Given the description of an element on the screen output the (x, y) to click on. 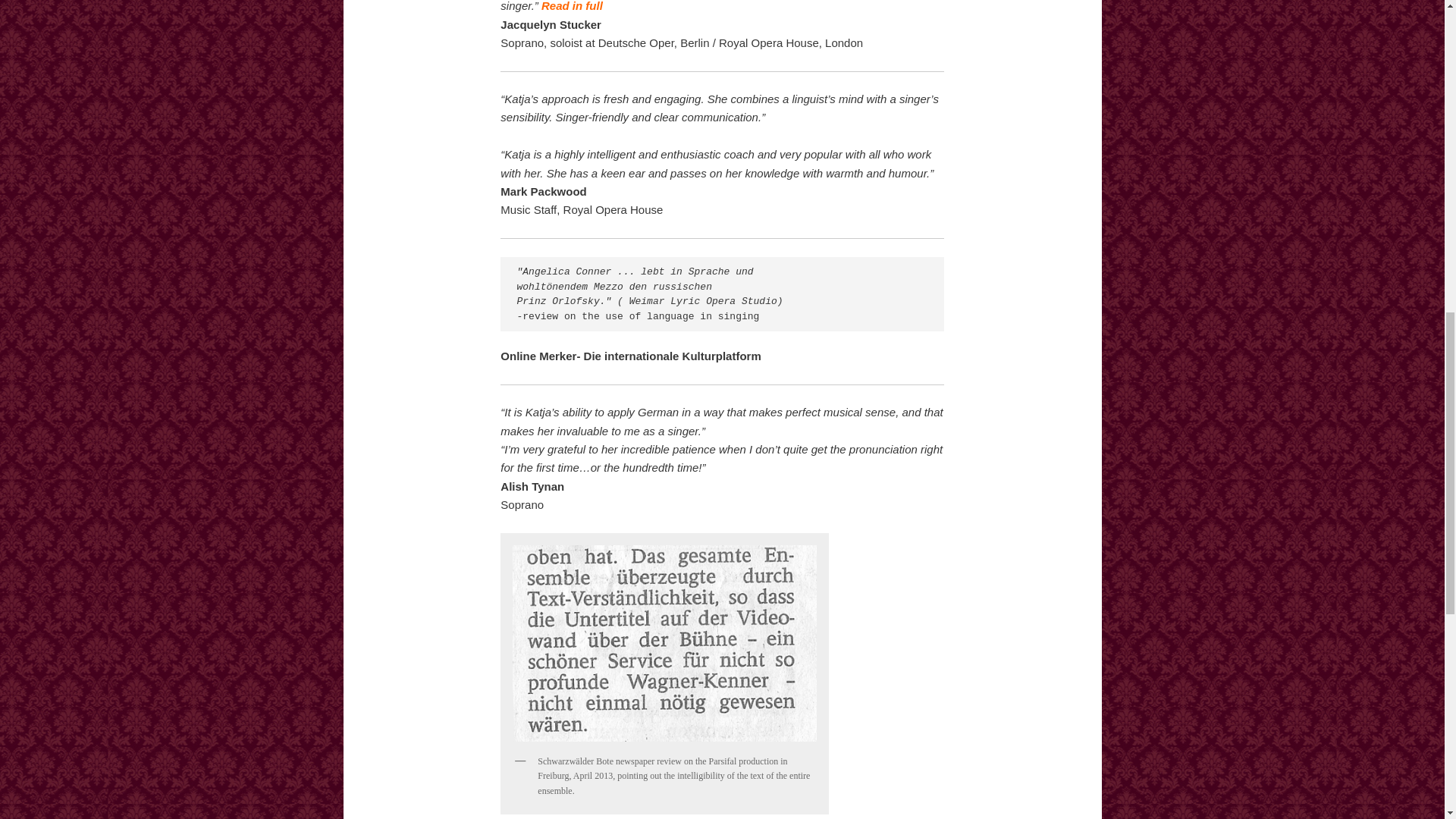
Read in full (571, 6)
